Given the description of an element on the screen output the (x, y) to click on. 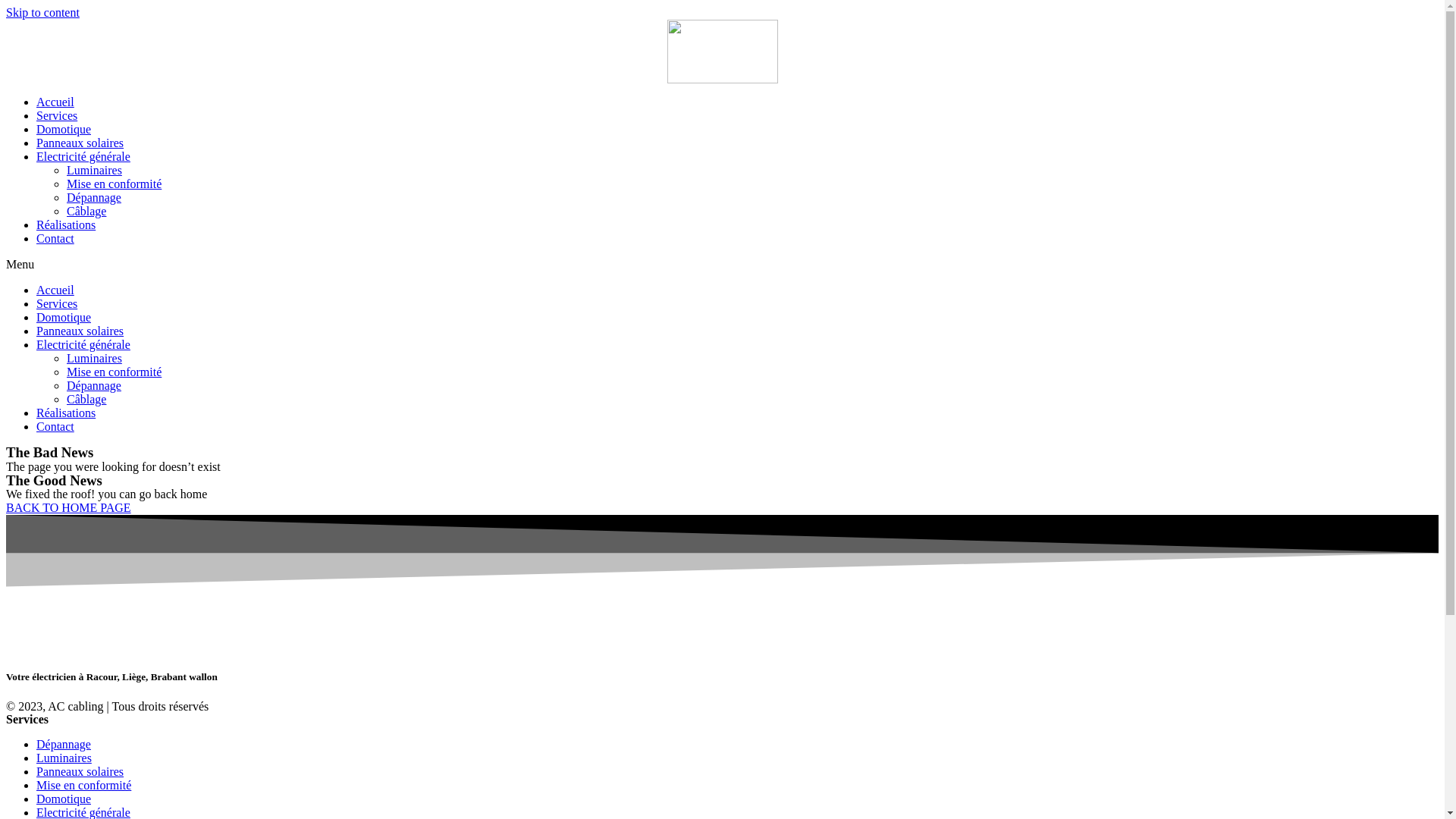
Accueil Element type: text (55, 101)
Domotique Element type: text (63, 316)
Services Element type: text (56, 115)
Contact Element type: text (55, 426)
Services Element type: text (56, 303)
Panneaux solaires Element type: text (79, 330)
Panneaux solaires Element type: text (79, 771)
Panneaux solaires Element type: text (79, 142)
Domotique Element type: text (63, 128)
Accueil Element type: text (55, 289)
Luminaires Element type: text (94, 169)
Contact Element type: text (55, 238)
Luminaires Element type: text (94, 357)
BACK TO HOME PAGE Element type: text (68, 507)
Luminaires Element type: text (63, 757)
Domotique Element type: text (63, 798)
Skip to content Element type: text (42, 12)
